Given the description of an element on the screen output the (x, y) to click on. 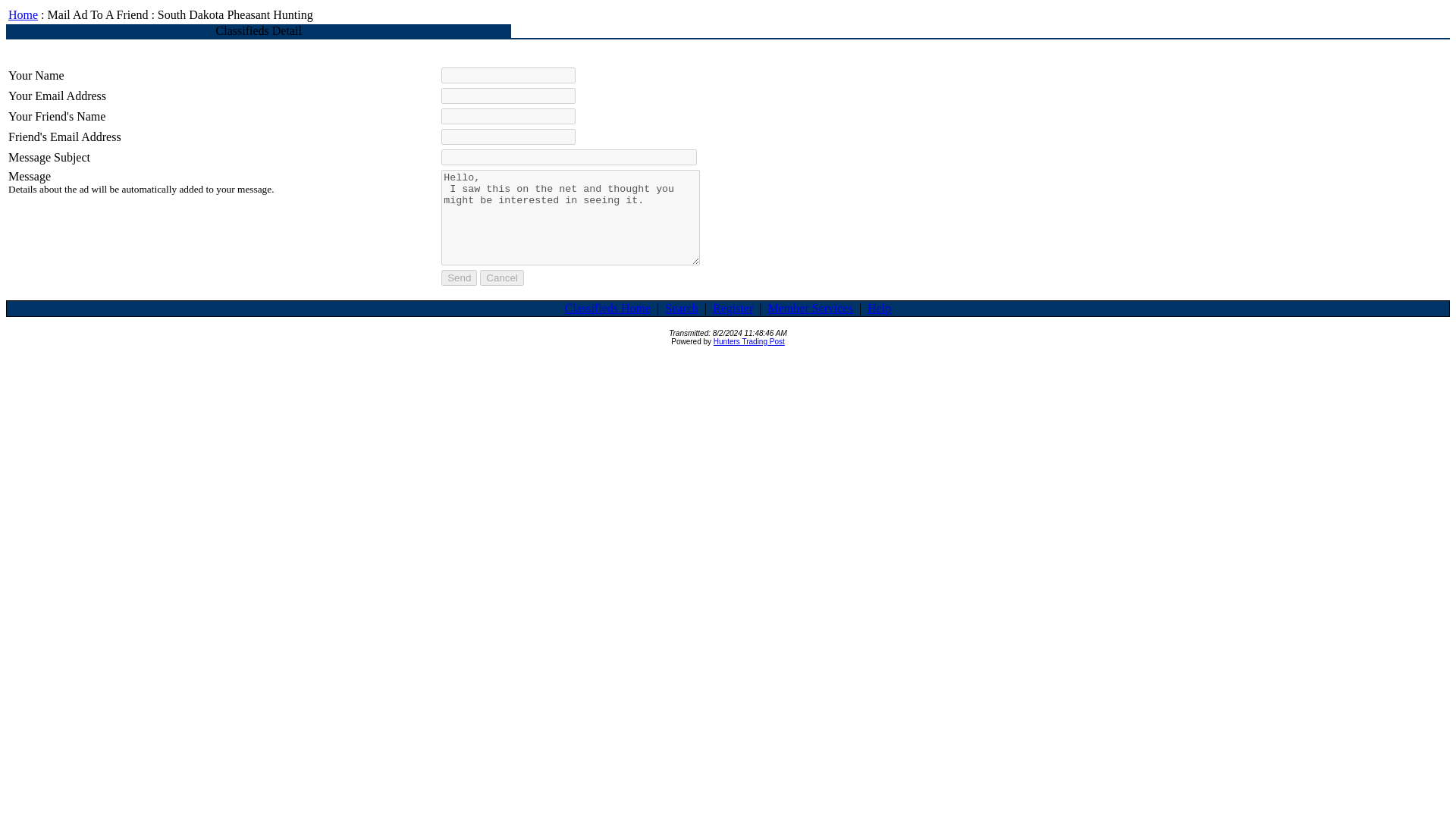
Member Services (810, 308)
Mail Ad To A Friend : South Dakota Pheasant Hunting (180, 14)
Send (459, 277)
Help (879, 308)
Cancel (502, 277)
Register (732, 308)
Classifieds Home (607, 308)
Search (681, 308)
Home (22, 14)
Send (459, 277)
